Given the description of an element on the screen output the (x, y) to click on. 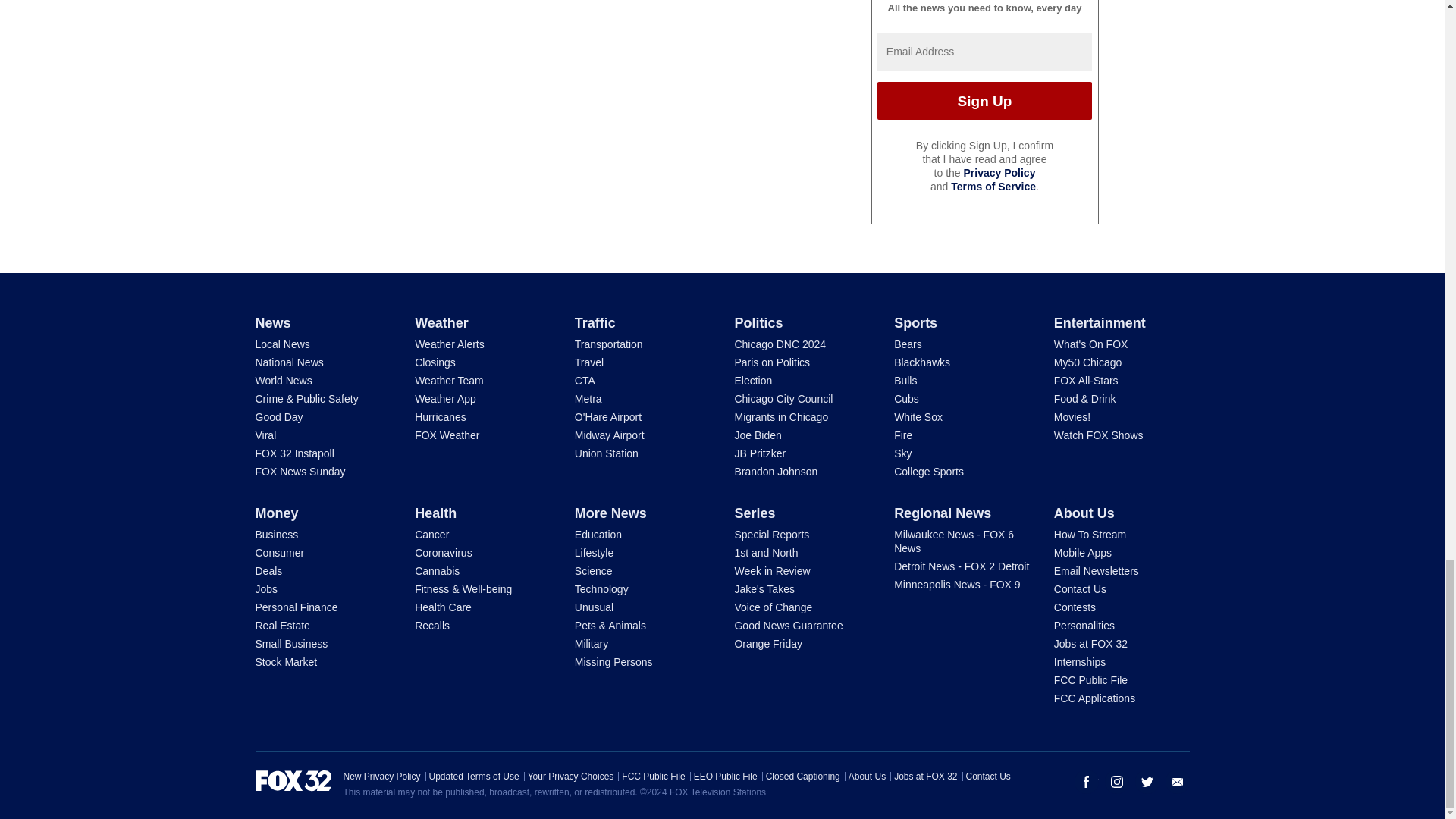
Sign Up (984, 100)
